Given the description of an element on the screen output the (x, y) to click on. 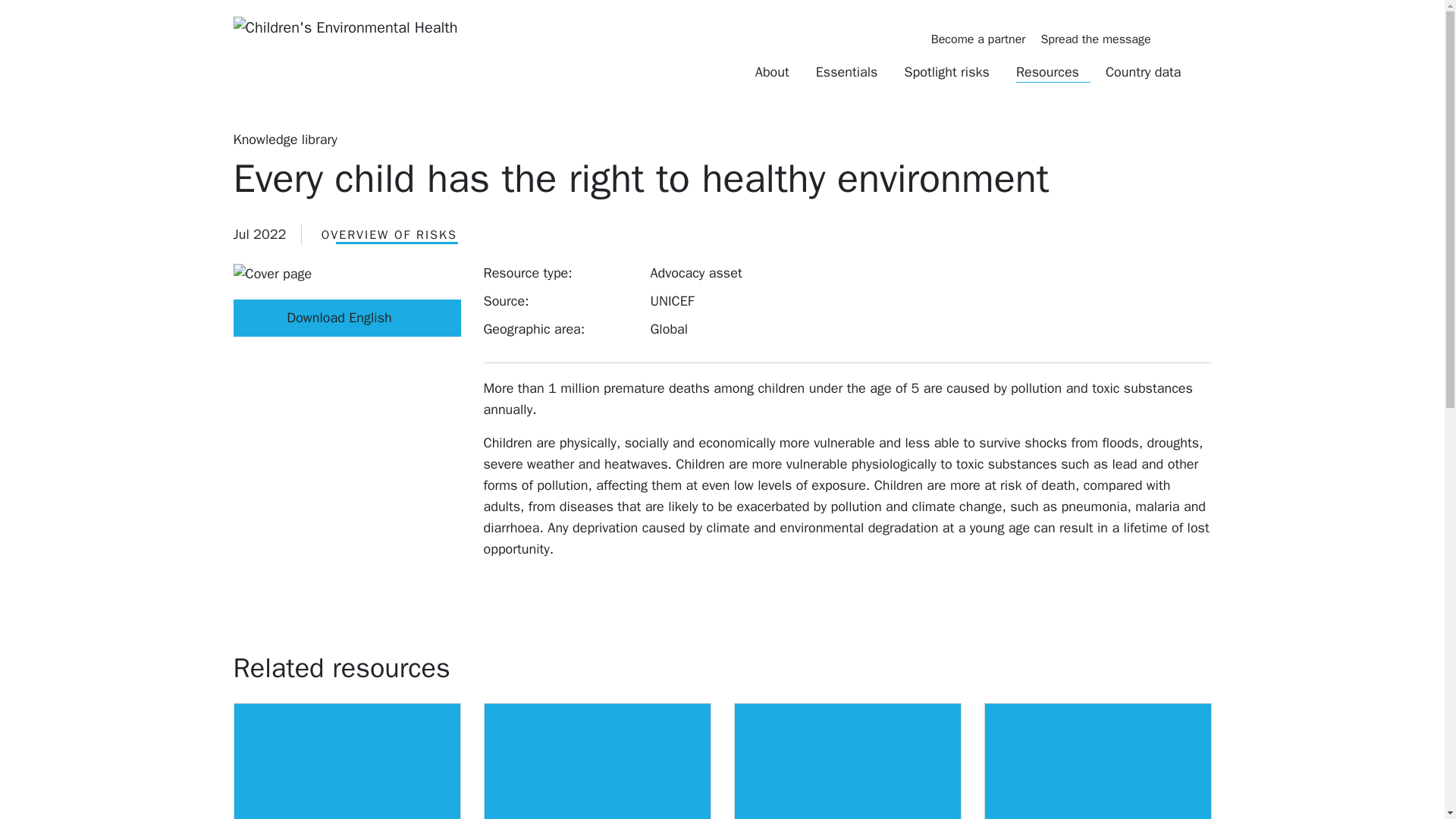
Download English (346, 317)
Become a partner (978, 39)
Resources (1053, 71)
Country data (1148, 71)
About (777, 71)
Essentials (852, 71)
OVERVIEW OF RISKS (389, 234)
Spread the message (1095, 39)
Knowledge library (284, 139)
Spotlight risks (952, 71)
